Given the description of an element on the screen output the (x, y) to click on. 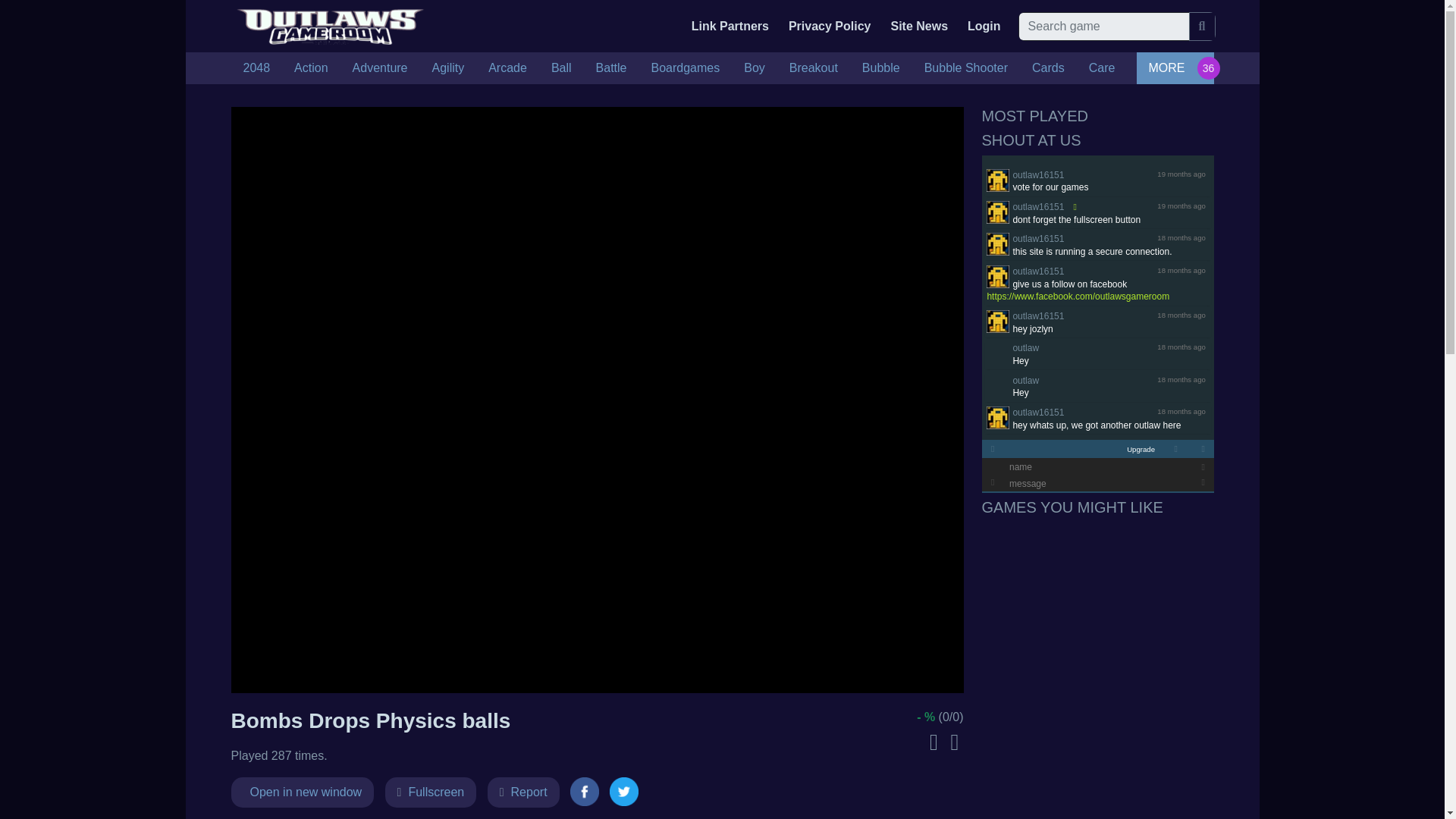
Boy (754, 68)
Link Partners (729, 25)
Ball (560, 68)
Site News (918, 25)
Action (310, 68)
Login (983, 25)
Arcade (507, 68)
2048 (256, 68)
Adventure (380, 68)
Bubble (881, 68)
Care (1101, 68)
Bubble Shooter (966, 68)
Boardgames (685, 68)
Breakout (813, 68)
Privacy Policy (830, 25)
